Given the description of an element on the screen output the (x, y) to click on. 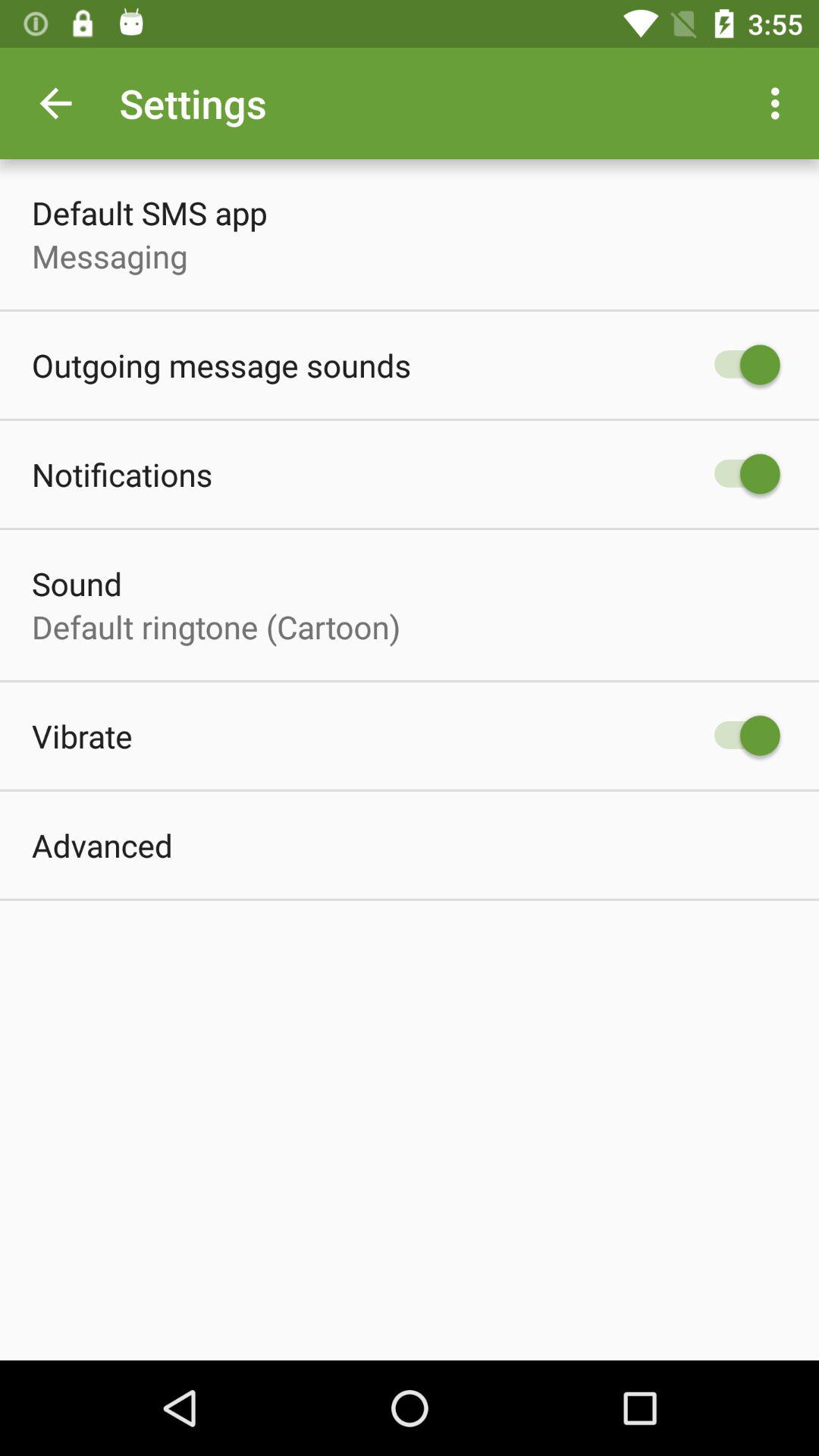
flip until default ringtone (cartoon) item (215, 626)
